Given the description of an element on the screen output the (x, y) to click on. 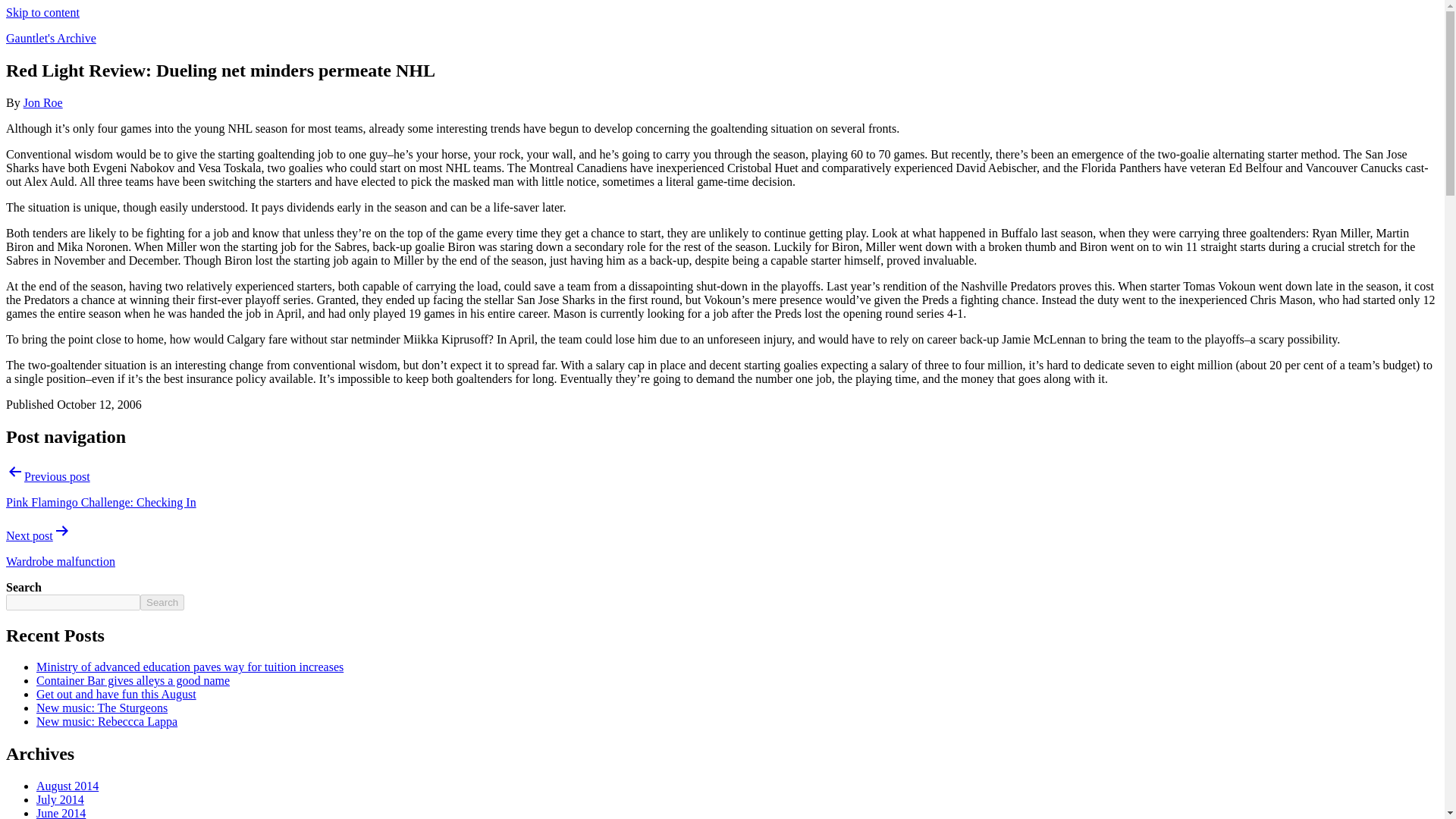
New music: The Sturgeons (101, 707)
Get out and have fun this August (116, 694)
June 2014 (60, 812)
New music: Rebeccca Lappa (106, 721)
August 2014 (67, 785)
Gauntlet's Archive (50, 38)
Jon Roe (42, 102)
July 2014 (60, 799)
Skip to content (42, 11)
